Given the description of an element on the screen output the (x, y) to click on. 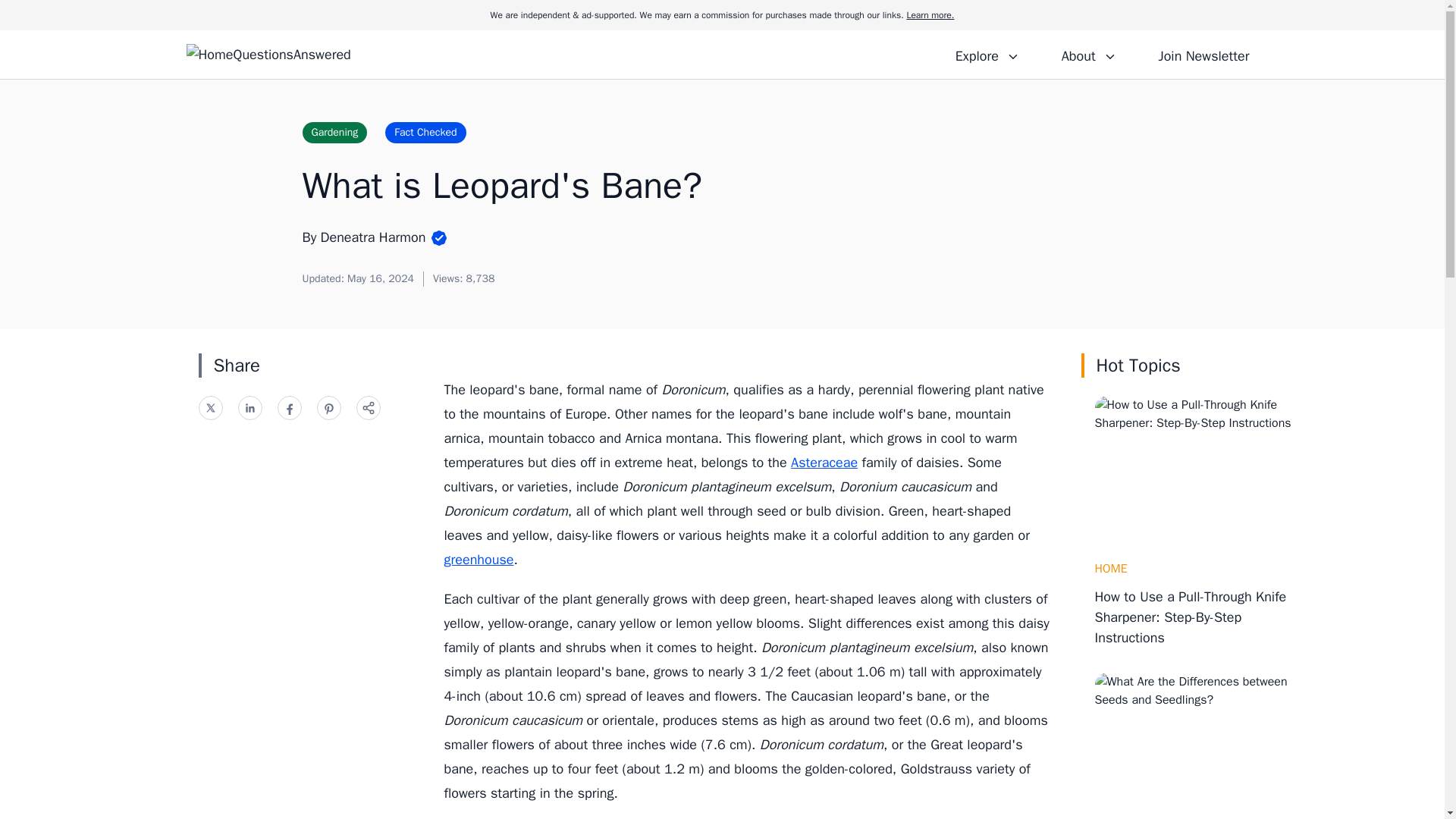
Join Newsletter (1202, 54)
Gardening (333, 132)
Explore (986, 54)
Learn more. (929, 15)
Fact Checked (425, 132)
About (1088, 54)
